Given the description of an element on the screen output the (x, y) to click on. 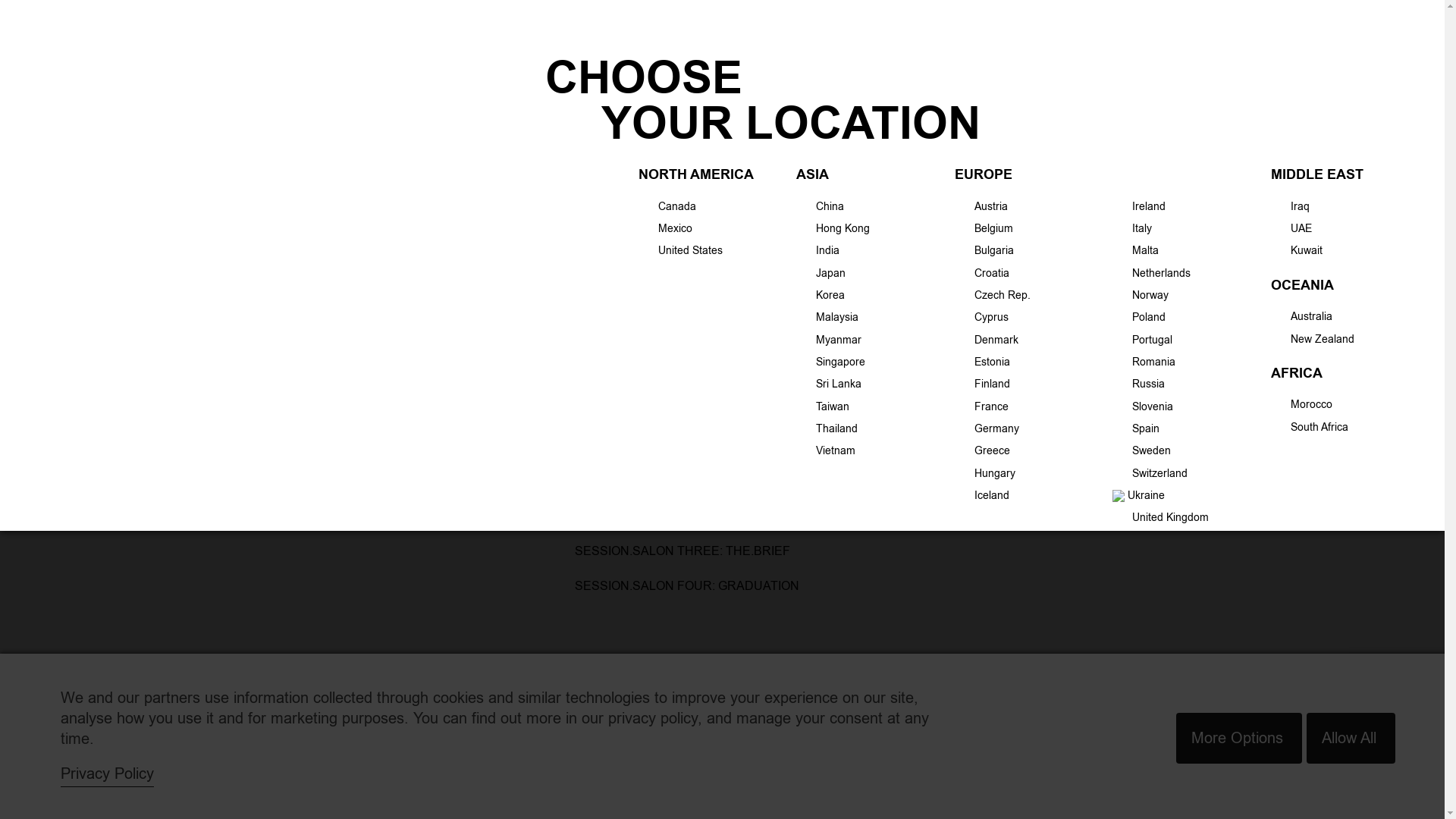
Iraq Element type: text (1289, 205)
EDUCATION BY KEVIN.MURPHY Element type: text (305, 277)
Thailand Element type: text (826, 428)
Search Element type: text (1438, 38)
Mexico Element type: text (665, 227)
THE TEAM Element type: text (257, 309)
EDUCATION INSIDER Element type: text (280, 373)
PRODUCT MATCHMAKER QUIZ Element type: text (693, 122)
New Zealand Element type: text (1312, 338)
Estonia Element type: text (982, 361)
ABOUT Element type: text (1010, 122)
Italy Element type: text (1131, 227)
Netherlands Element type: text (1151, 272)
Canada Element type: text (667, 205)
Iceland Element type: text (981, 494)
BLOG Element type: text (1071, 122)
Denmark Element type: text (986, 339)
CHOICES WE MAKE Element type: text (920, 122)
SESSION.SALON Element type: text (271, 341)
Salon Locator Element type: text (1278, 38)
Morocco Element type: text (1301, 403)
Taiwan Element type: text (822, 406)
GIFT SETS Element type: text (394, 122)
Korea Element type: text (820, 294)
Carry KEVIN.MURPHY Element type: text (1369, 38)
View your shopping cart Element type: hover (1087, 35)
UAE Element type: text (1290, 227)
Romania Element type: text (1143, 361)
Malta Element type: text (1135, 249)
Singapore Element type: text (830, 361)
Ireland Element type: text (1138, 205)
China Element type: text (820, 205)
South Africa Element type: text (1309, 426)
Sweden Element type: text (1141, 450)
Belgium Element type: text (983, 227)
Kuwait Element type: text (1296, 249)
India Element type: text (817, 249)
France Element type: text (981, 406)
Privacy Policy Element type: text (106, 773)
Spain Element type: text (1135, 428)
United States Element type: text (680, 249)
DIGITAL EDUCATION EVENTS Element type: text (299, 245)
Portugal Element type: text (1142, 339)
Poland Element type: text (1138, 316)
Slovenia Element type: text (1142, 406)
Hungary Element type: text (984, 472)
Allow All Element type: text (1350, 737)
Czech Rep. Element type: text (992, 294)
More Options Element type: text (1239, 737)
Croatia Element type: text (981, 272)
Vietnam Element type: text (825, 450)
Australia Element type: text (1301, 315)
Hong Kong Element type: text (832, 227)
Malaysia Element type: text (827, 316)
Germany Element type: text (986, 428)
United Kingdom Element type: text (1160, 516)
Greece Element type: text (982, 450)
Ukraine Element type: text (1138, 494)
Change Location Element type: text (48, 37)
Cyprus Element type: text (981, 316)
Russia Element type: text (1138, 383)
Finland Element type: text (982, 383)
Myanmar Element type: text (828, 339)
Sri Lanka Element type: text (828, 383)
Switzerland Element type: text (1149, 472)
HAIR COLOUR Element type: text (561, 122)
Norway Element type: text (1140, 294)
EDUCATION Element type: text (820, 122)
DIGITAL EDUCATION Element type: text (279, 213)
Austria Element type: text (980, 205)
Japan Element type: text (820, 272)
HAIR CARE Element type: text (472, 122)
Bulgaria Element type: text (983, 249)
